Given the description of an element on the screen output the (x, y) to click on. 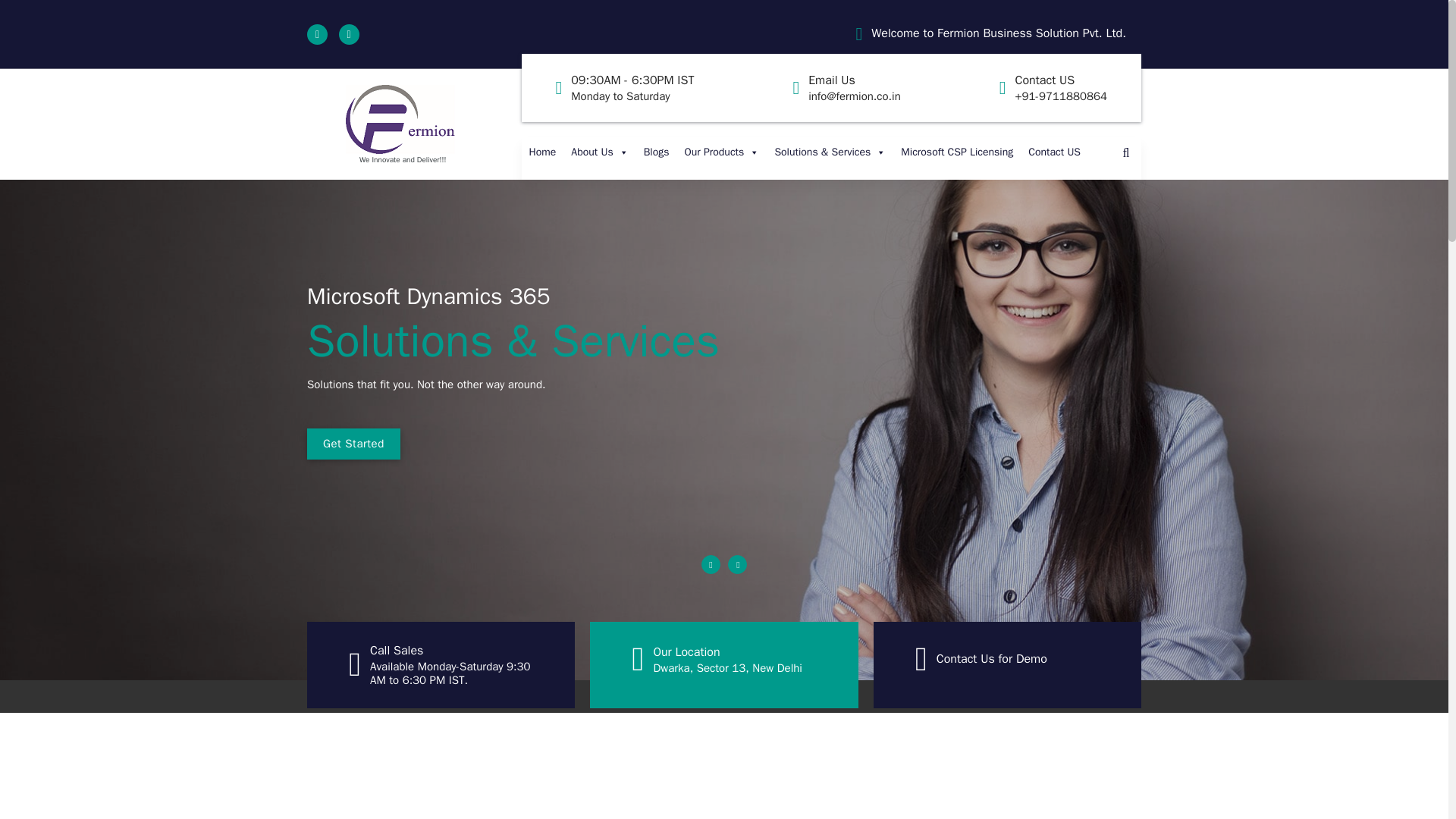
About Us (598, 152)
Welcome to Fermion Business Solution Pvt. Ltd. (632, 87)
Blogs (997, 33)
Home (656, 152)
Our Products (542, 152)
